Given the description of an element on the screen output the (x, y) to click on. 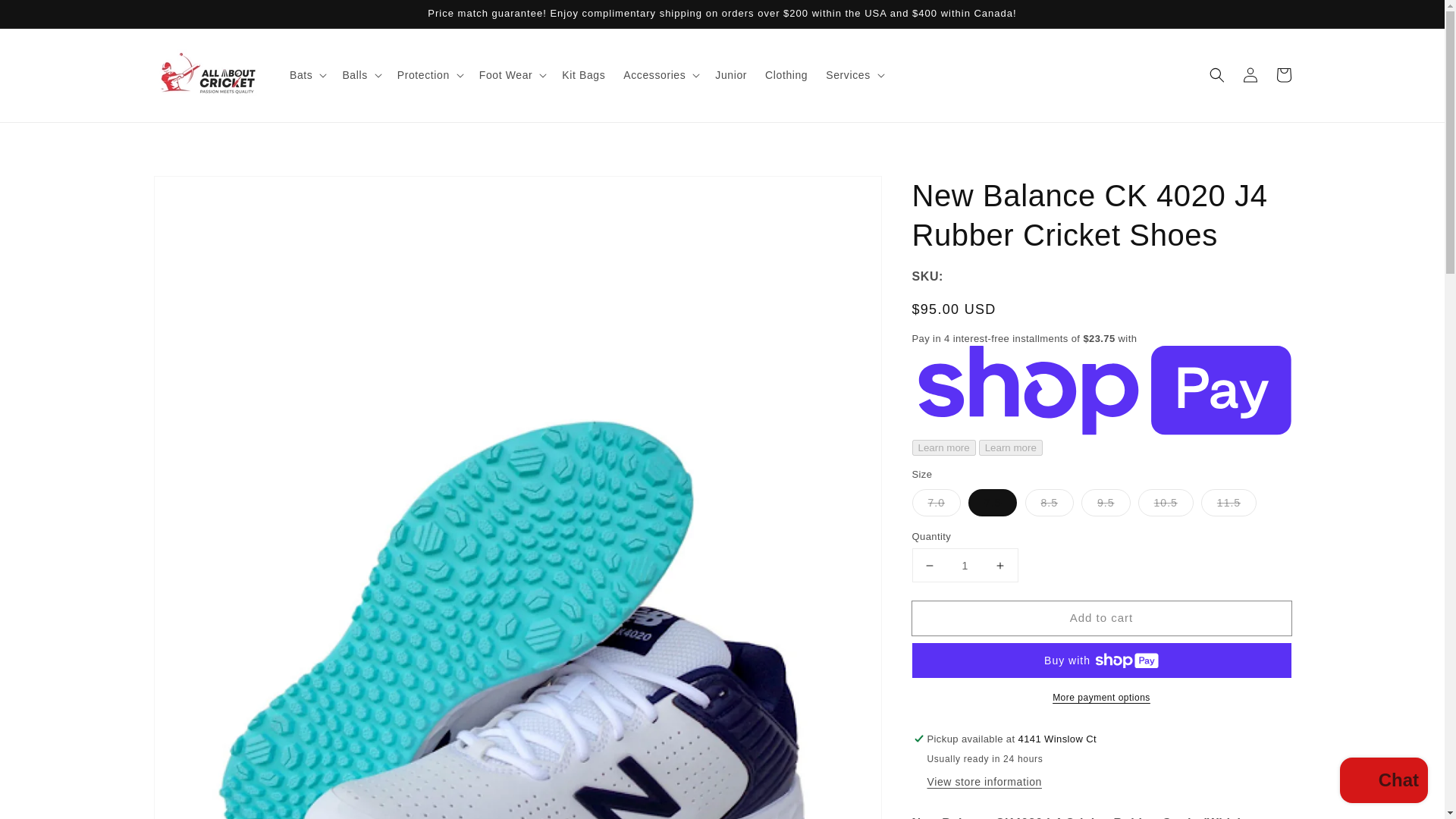
Shopify online store chat (1383, 781)
Skip to content (45, 16)
1 (964, 564)
